Given the description of an element on the screen output the (x, y) to click on. 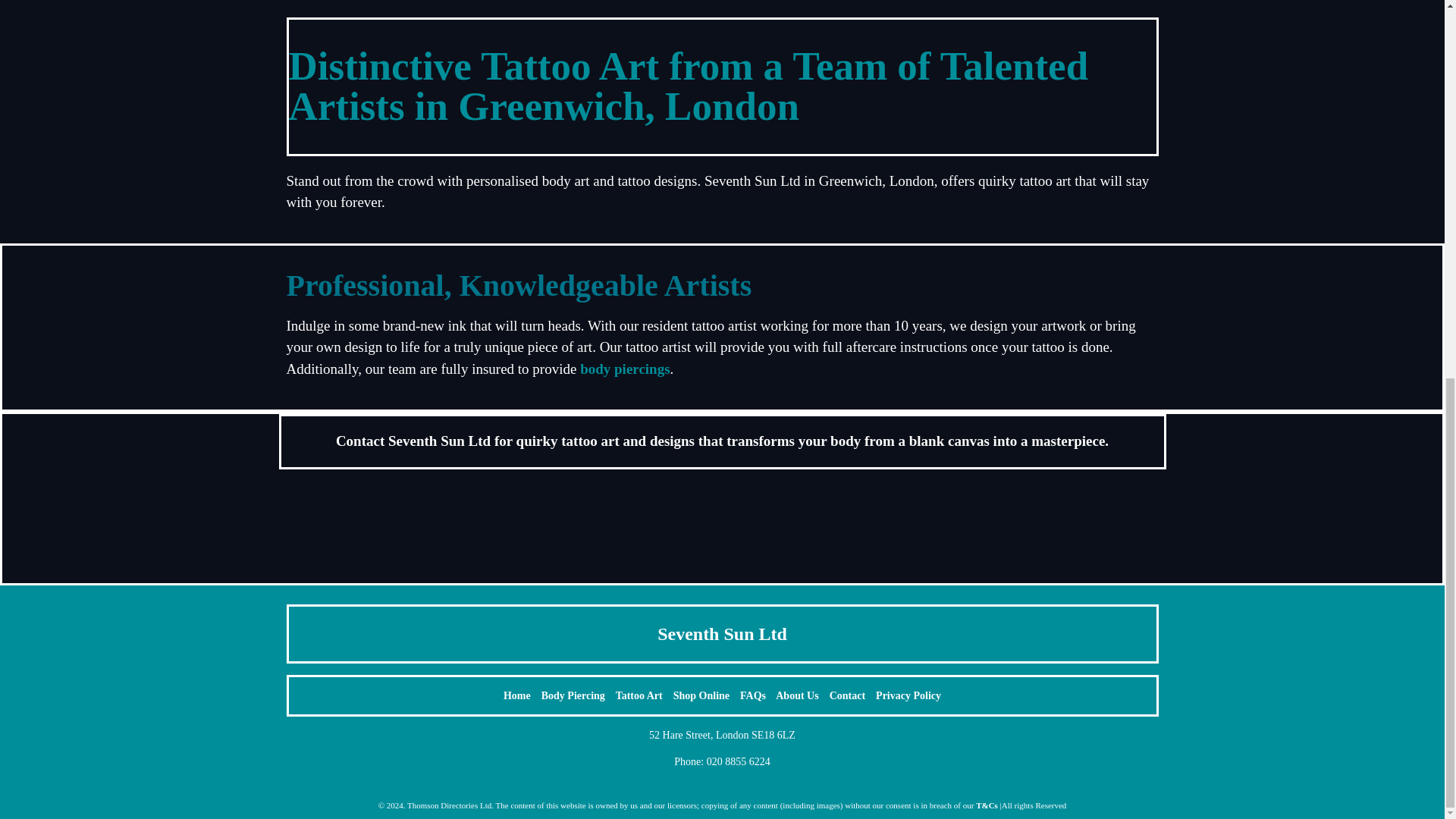
020 8855 6224 (738, 761)
body piercings (624, 368)
Privacy Policy (908, 695)
Home (517, 695)
Tattoo Art (638, 695)
Contact (846, 695)
About Us (797, 695)
Seventh Sun Ltd (722, 633)
Shop Online (700, 695)
Body Piercing (573, 695)
FAQs (752, 695)
